Given the description of an element on the screen output the (x, y) to click on. 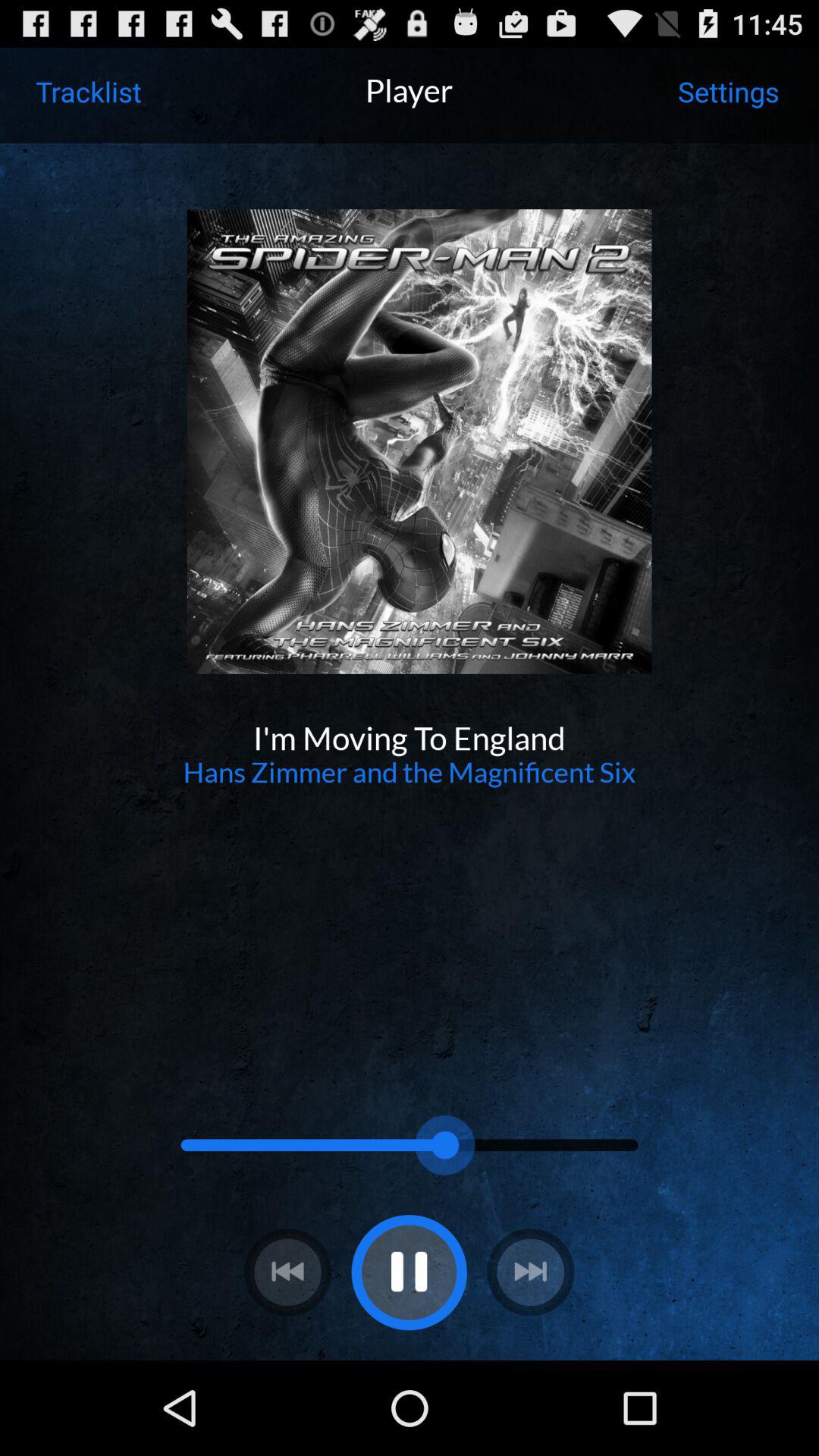
pause music (408, 1272)
